Given the description of an element on the screen output the (x, y) to click on. 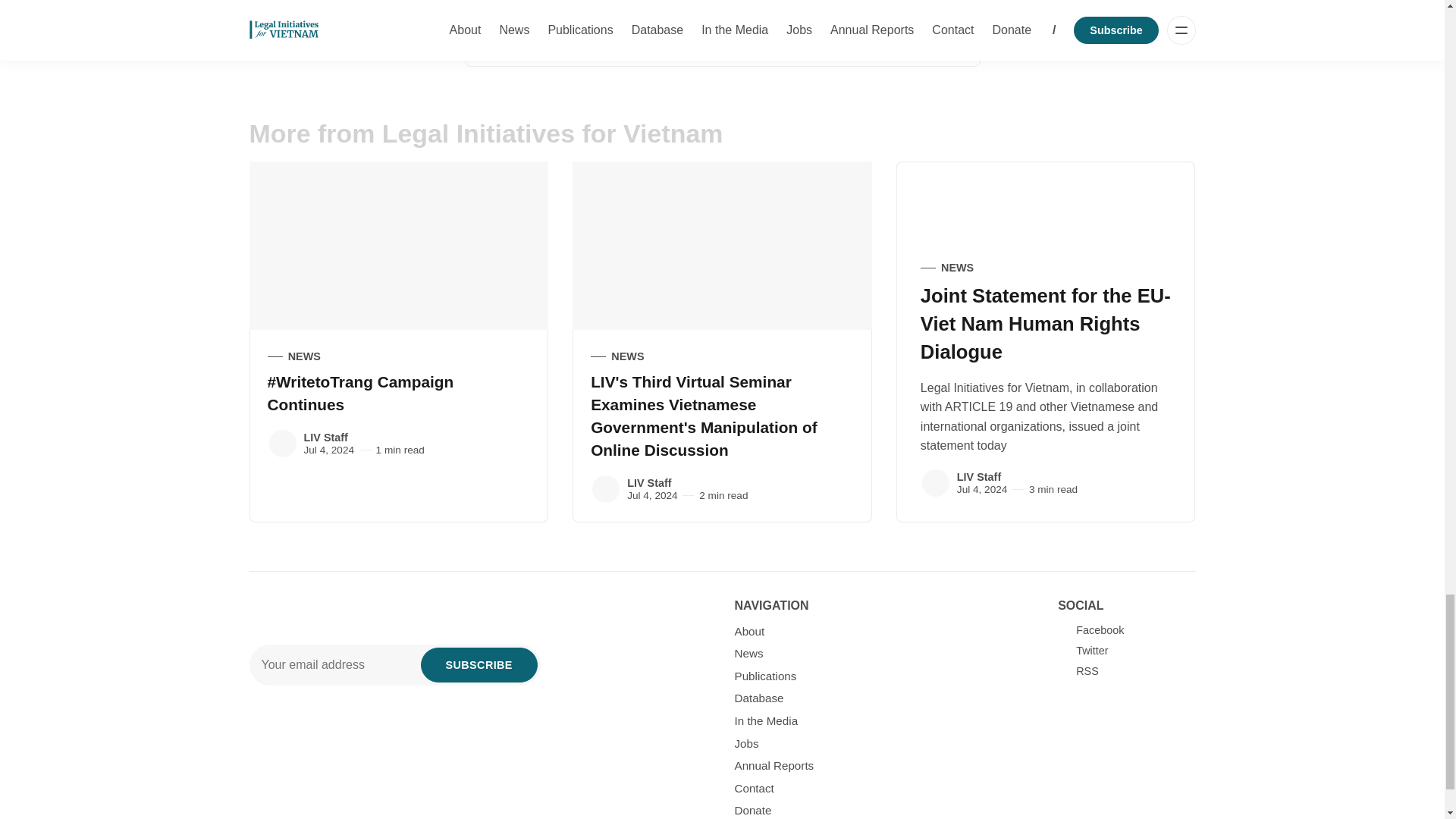
LIV Staff (281, 443)
LIV Staff (935, 482)
LIV Staff (606, 489)
